Given the description of an element on the screen output the (x, y) to click on. 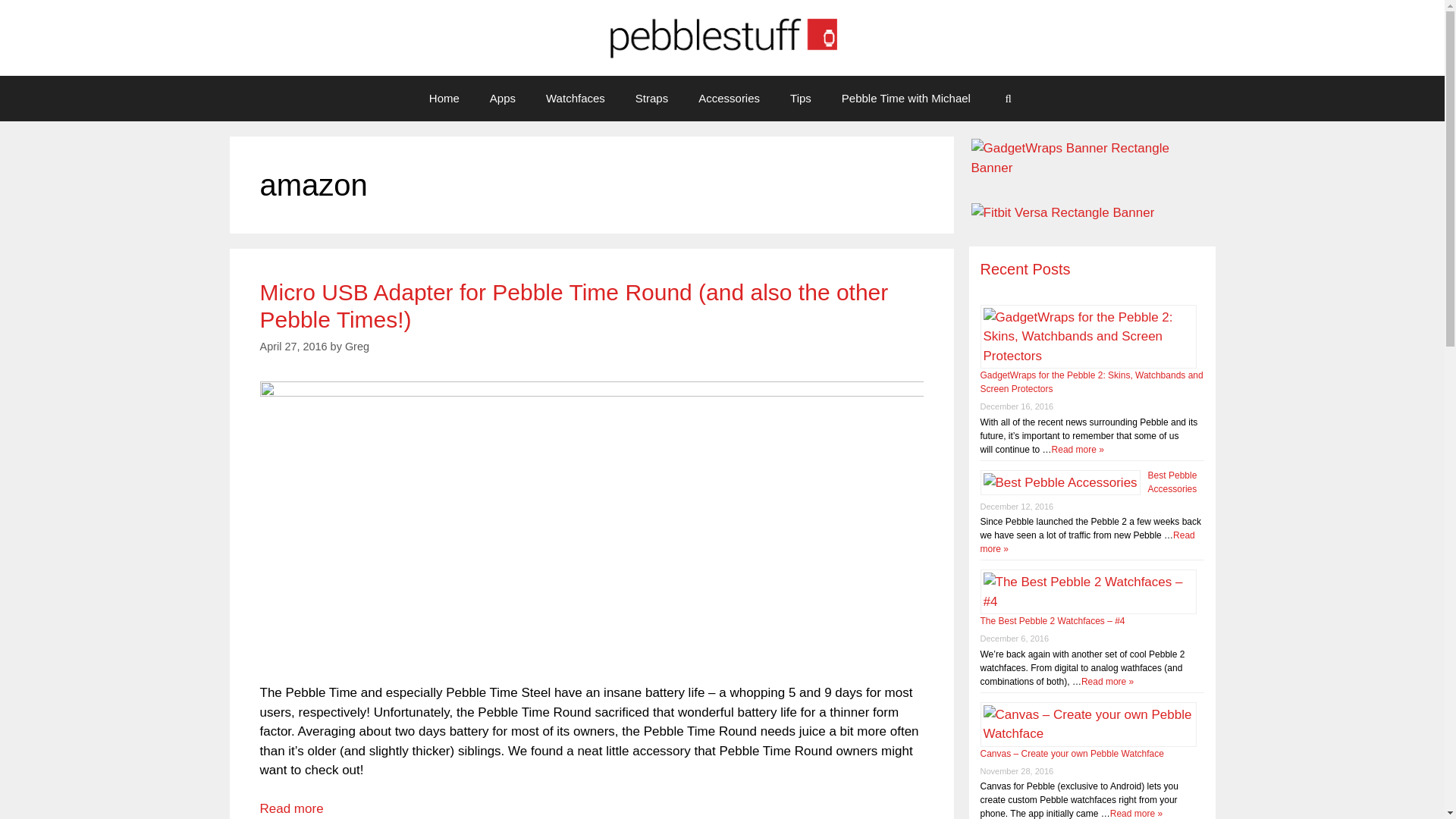
pebblestuff (722, 36)
Daily usage reviews (906, 98)
Pebble Time with Michael (906, 98)
View all posts by Greg (357, 346)
1:00 pm (292, 346)
pebblestuff (722, 37)
Accessories (728, 98)
Watchfaces (575, 98)
